Given the description of an element on the screen output the (x, y) to click on. 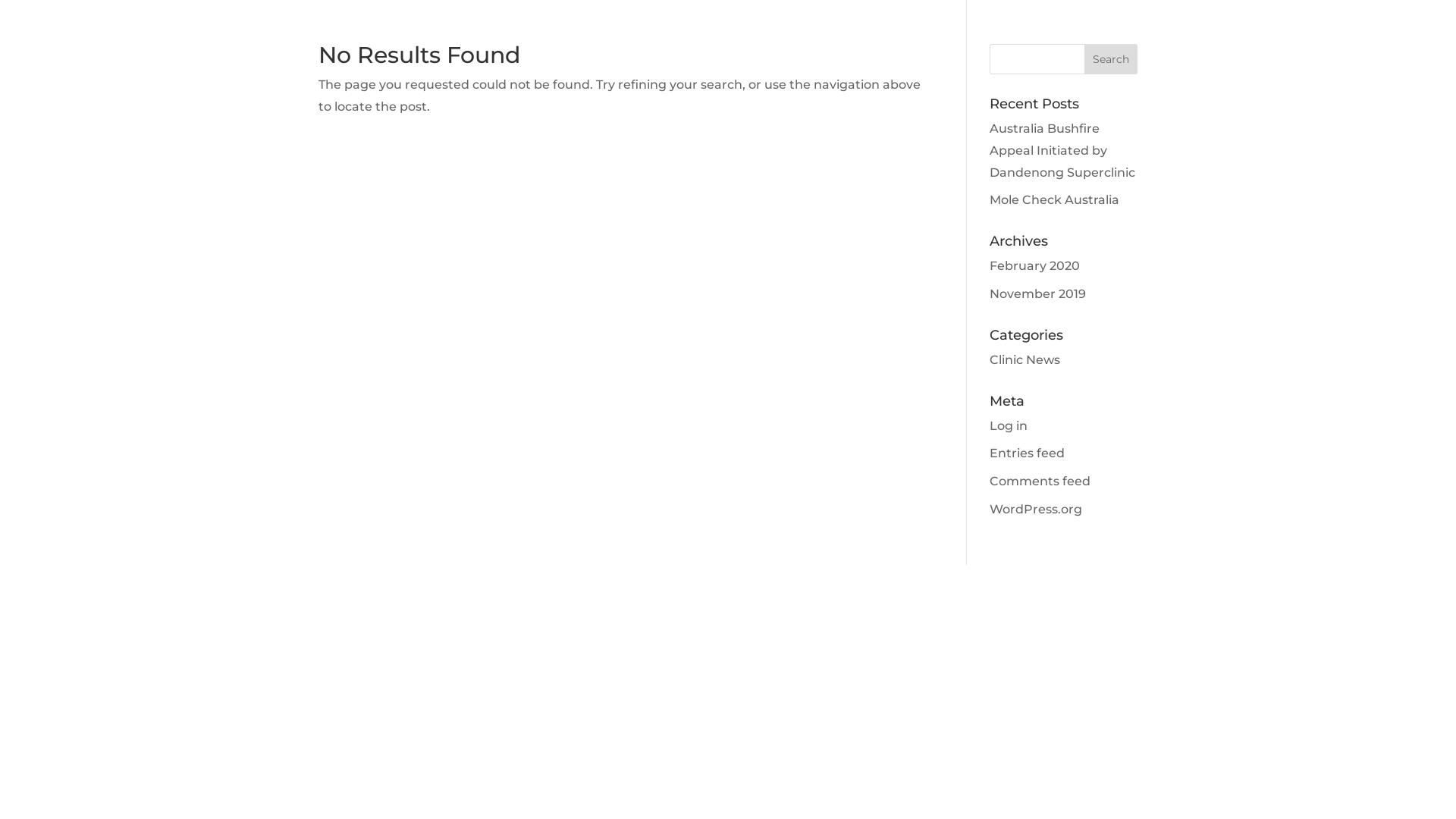
WordPress.org Element type: text (1035, 509)
February 2020 Element type: text (1034, 265)
Mole Check Australia Element type: text (1054, 199)
Entries feed Element type: text (1026, 452)
Log in Element type: text (1008, 425)
November 2019 Element type: text (1037, 293)
Australia Bushfire Appeal Initiated by Dandenong Superclinic Element type: text (1062, 150)
Comments feed Element type: text (1039, 480)
Clinic News Element type: text (1024, 359)
Search Element type: text (1110, 58)
